Given the description of an element on the screen output the (x, y) to click on. 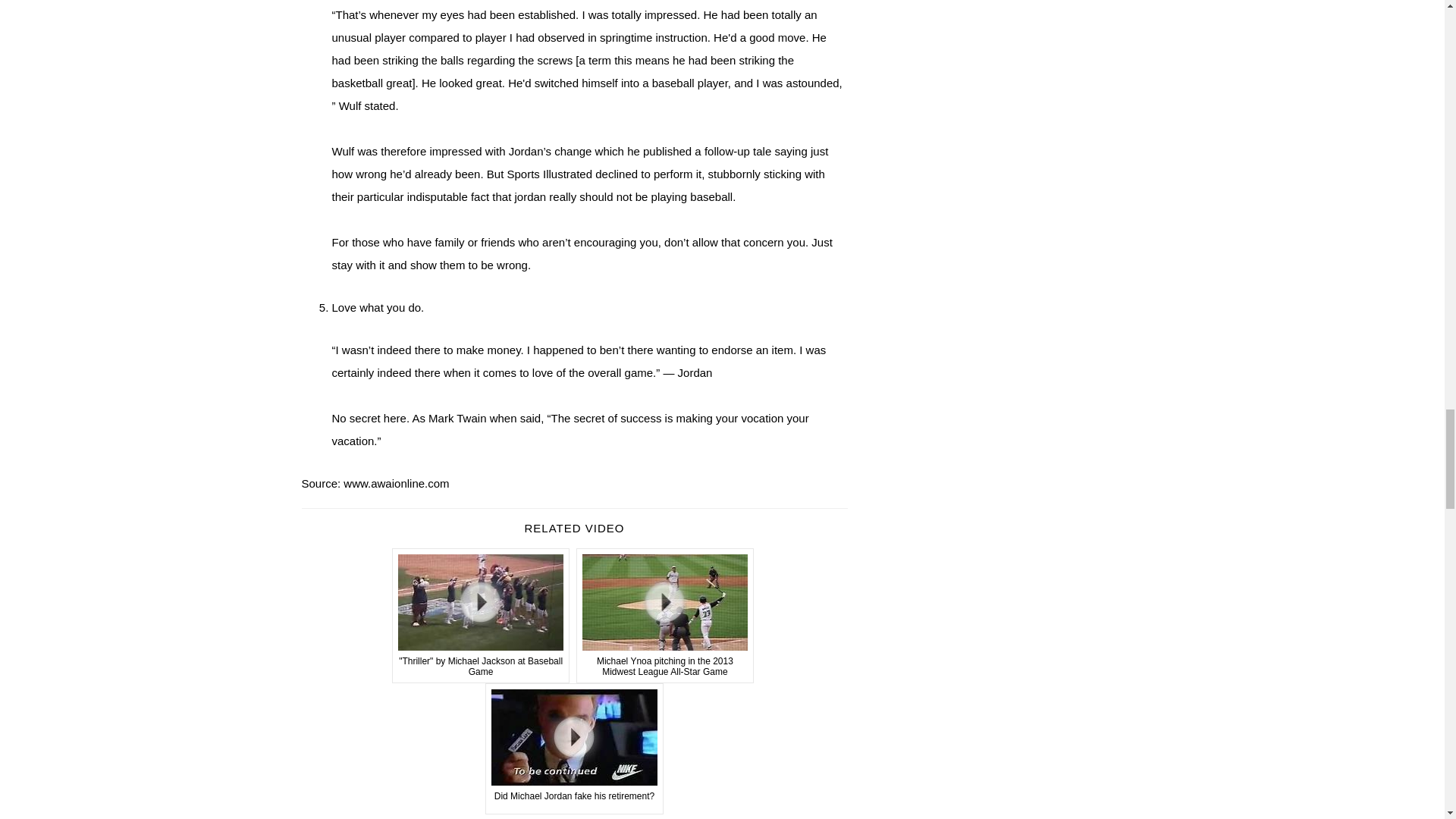
View this video from YouTube (665, 615)
View this video from YouTube (480, 615)
Video temporarily unavailable (573, 748)
